Given the description of an element on the screen output the (x, y) to click on. 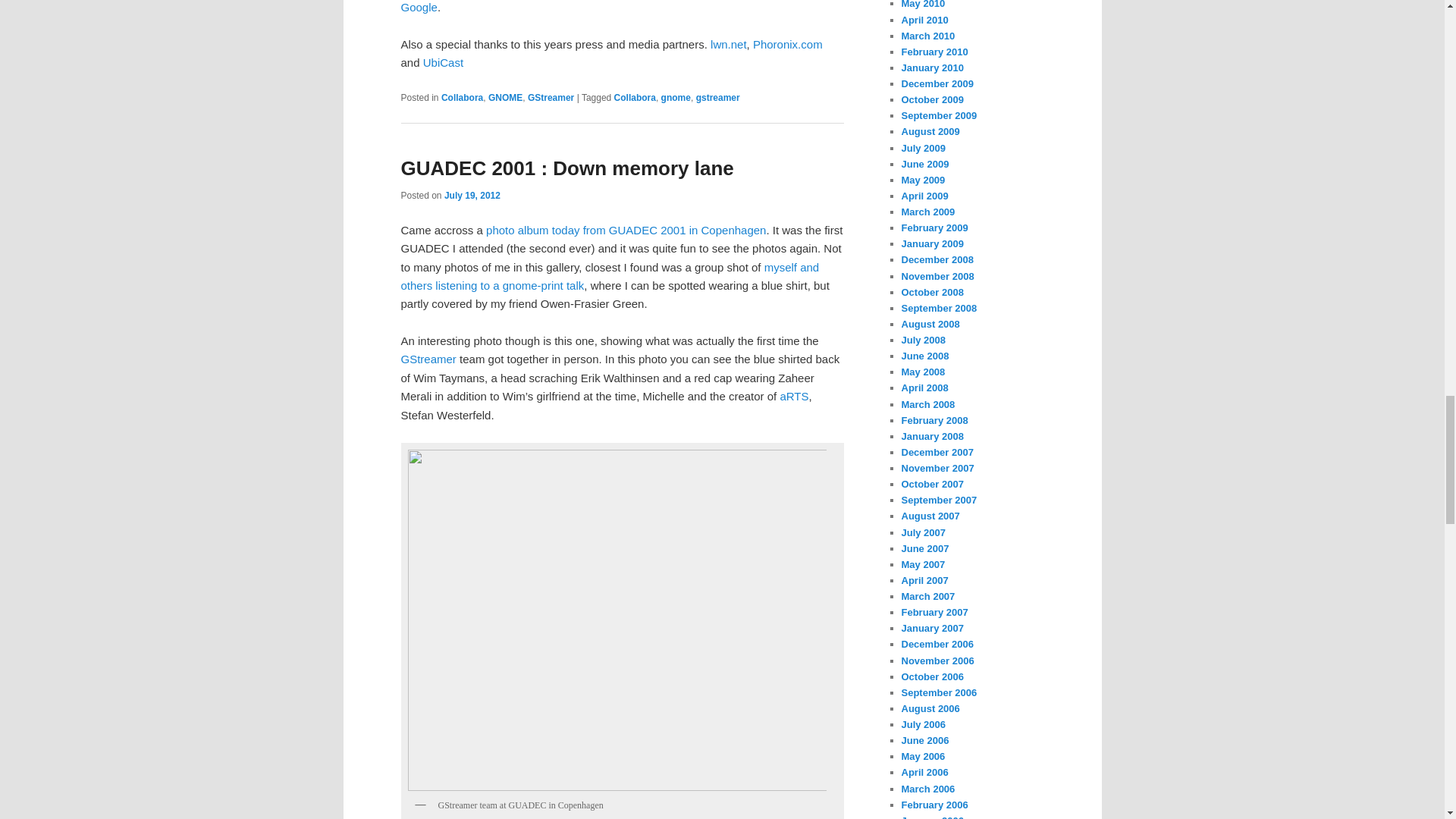
gstreamer (717, 97)
Google (418, 6)
Collabora (462, 97)
Phoronix.com (787, 43)
GUADEC 2001 : Down memory lane (566, 168)
lwn.net (728, 43)
GNOME (504, 97)
July 19, 2012 (472, 195)
gnome (675, 97)
11:23 (472, 195)
GStreamer (550, 97)
Collabora (635, 97)
UbiCast (443, 62)
